Given the description of an element on the screen output the (x, y) to click on. 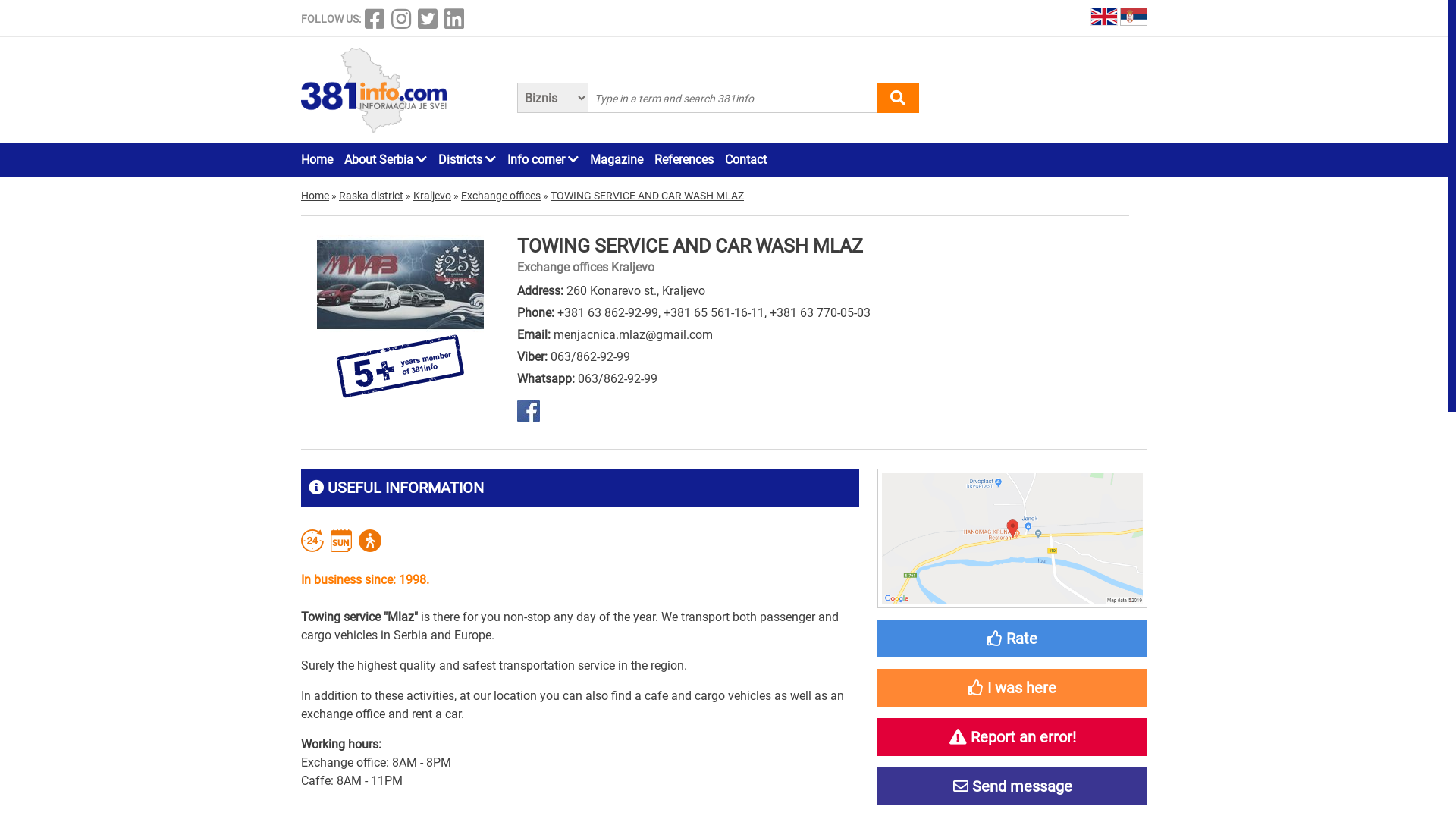
063/862-92-99 Element type: text (590, 356)
References Element type: text (683, 159)
Raska district Element type: text (370, 195)
063/862-92-99 Element type: text (617, 378)
Info corner Element type: text (542, 159)
Home Element type: text (316, 159)
Home Element type: text (315, 195)
Magazine Element type: text (616, 159)
TOWING SERVICE AND CAR WASH MLAZ Element type: text (646, 195)
Exchange offices Element type: text (500, 195)
+381 63 862-92-99 Element type: text (607, 312)
Contact Element type: text (745, 159)
+381 63 770-05-03 Element type: text (819, 312)
menjacnica.mlaz@gmail.com Element type: text (632, 334)
About Serbia Element type: text (385, 159)
Kraljevo Element type: text (432, 195)
Districts Element type: text (466, 159)
+381 65 561-16-11 Element type: text (713, 312)
